Given the description of an element on the screen output the (x, y) to click on. 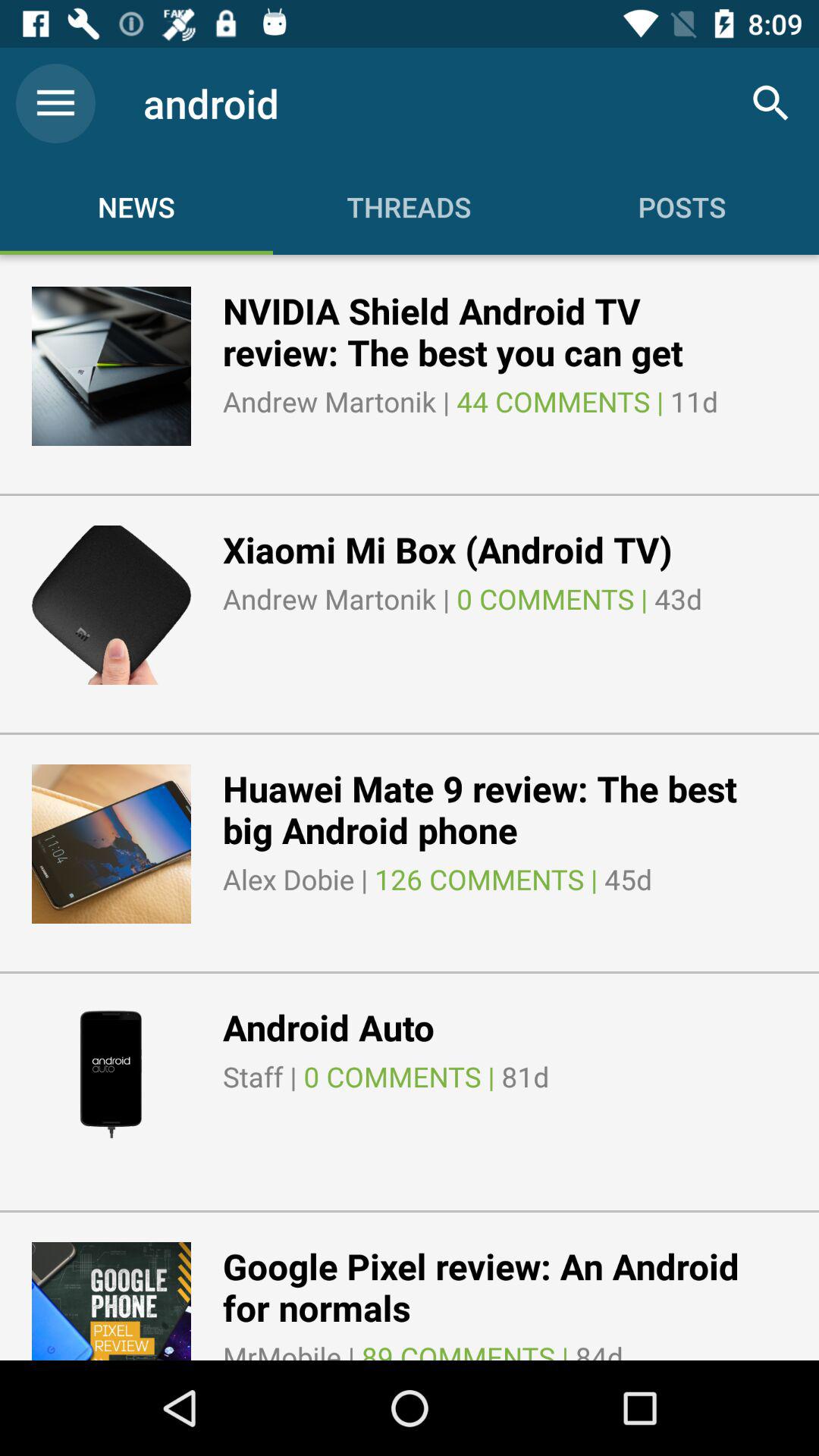
press the icon to the left of android (55, 103)
